Given the description of an element on the screen output the (x, y) to click on. 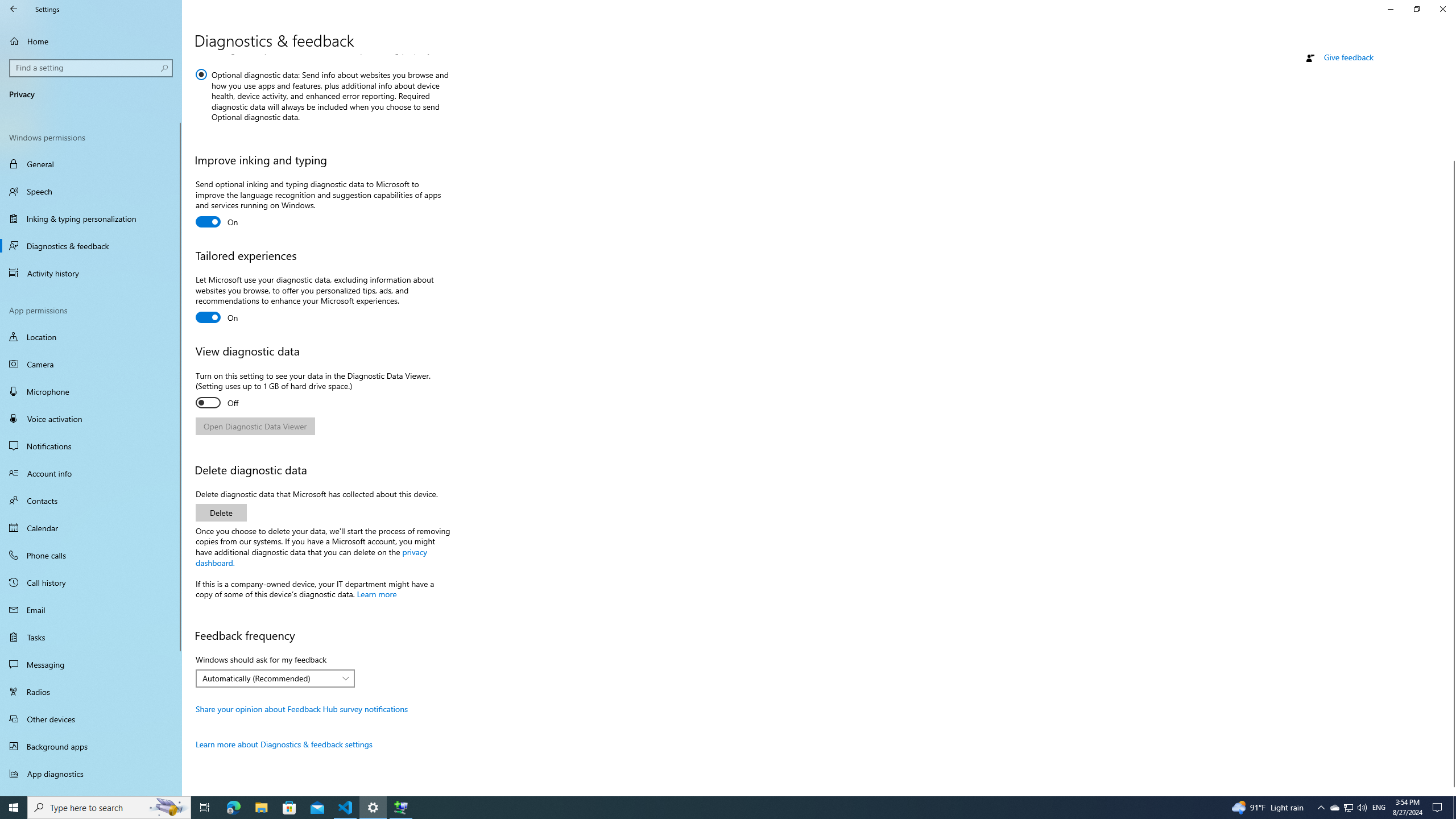
Privacy statement (1336, 3)
Home (91, 40)
Give feedback (1348, 56)
Account info (91, 472)
Speech (91, 190)
Contacts (91, 500)
Minimize Settings (1390, 9)
App diagnostics (91, 773)
Get more info about these settings (320, 11)
Messaging (91, 664)
Share your opinion about Feedback Hub survey notifications (301, 708)
Vertical (1451, 425)
